Given the description of an element on the screen output the (x, y) to click on. 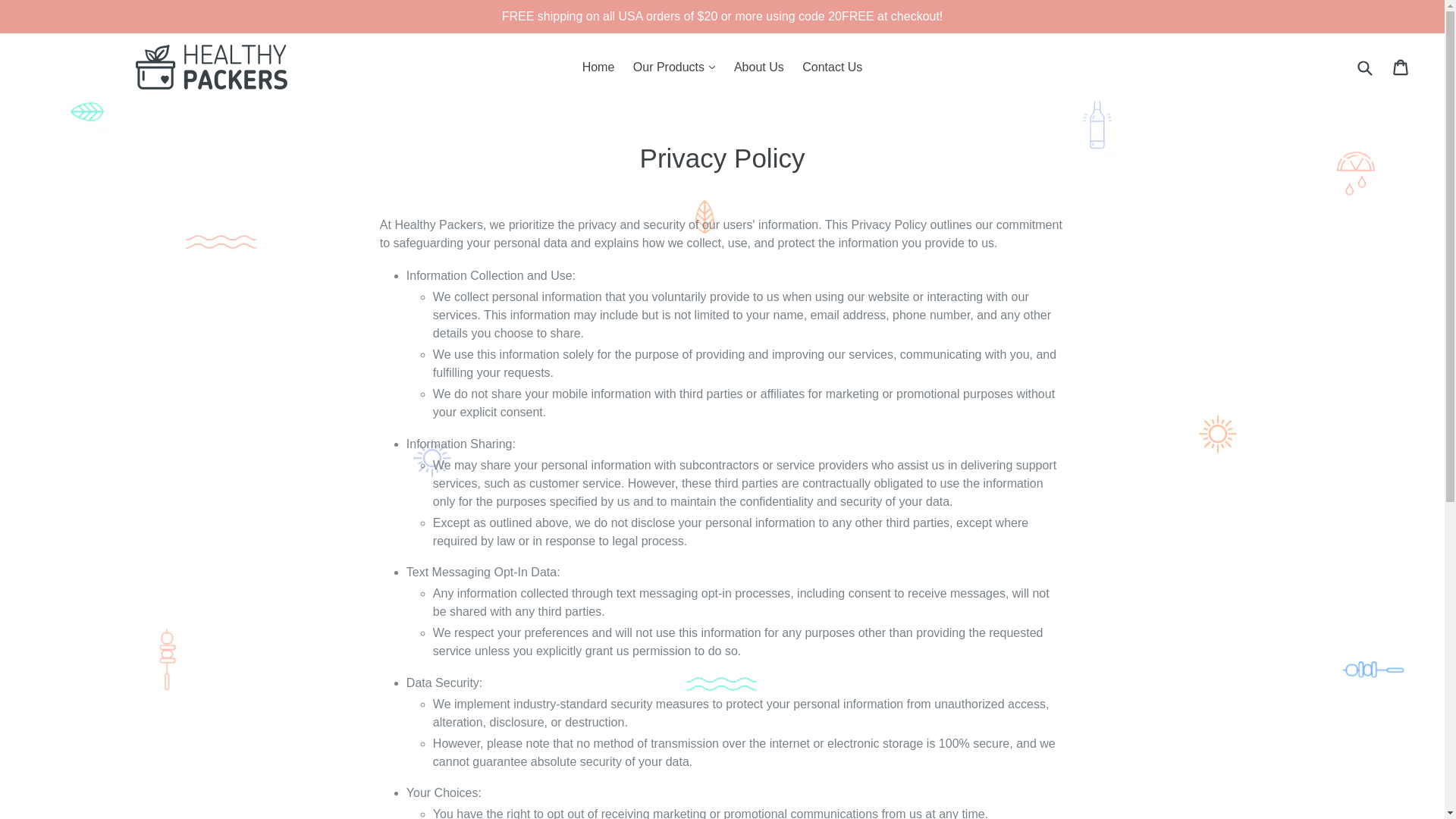
Contact Us (831, 67)
About Us (759, 67)
Home (599, 67)
